Given the description of an element on the screen output the (x, y) to click on. 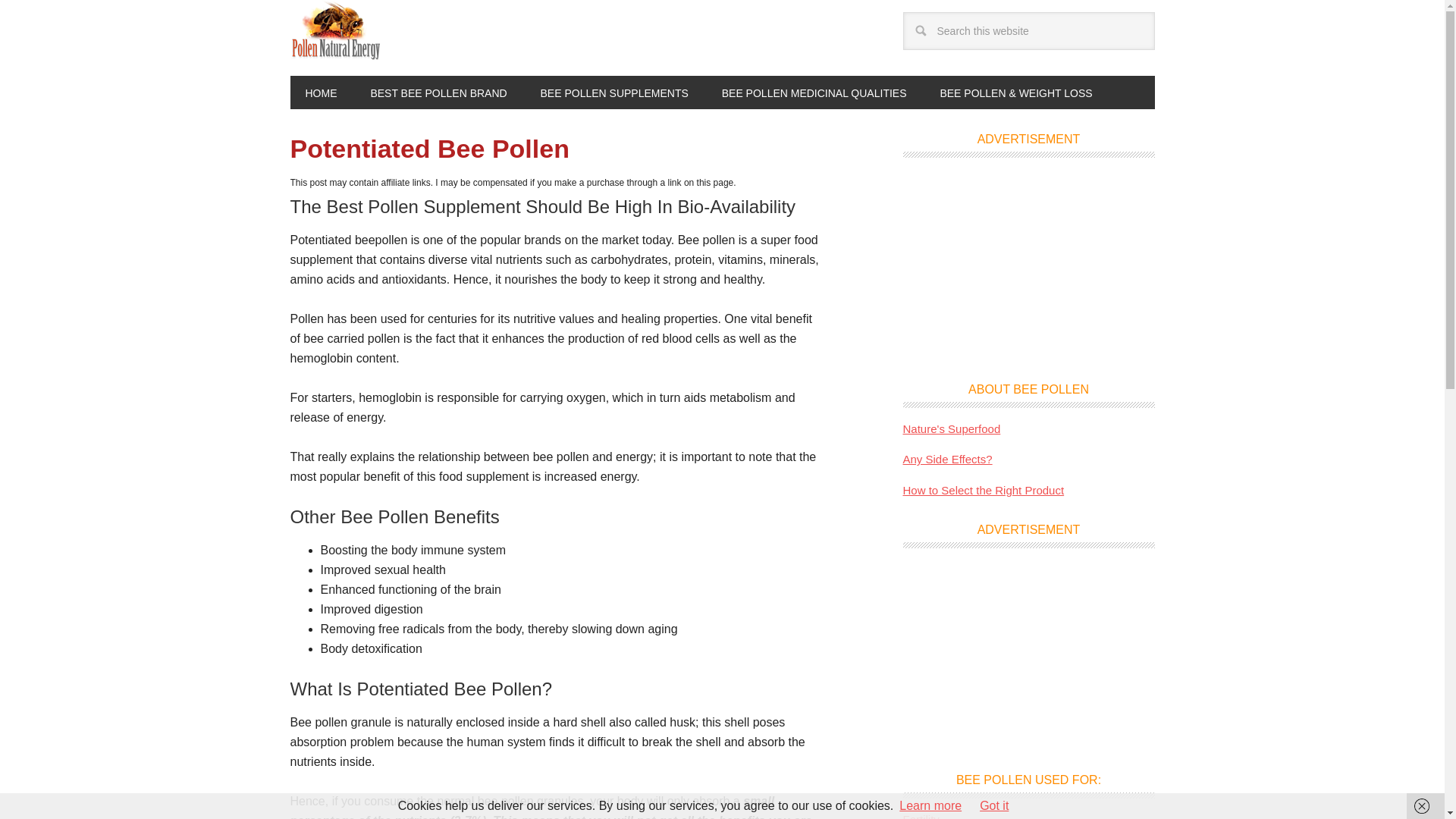
BEE POLLEN SUPPLEMENTS (614, 92)
Got it (994, 805)
Nature's Superfood (951, 428)
Advertisement (1028, 264)
BEST BEE POLLEN BRAND (438, 92)
Learn more (929, 805)
Fertility (920, 816)
How to Select the Right Product (983, 490)
BEE POLLEN MEDICINAL QUALITIES (813, 92)
Any Side Effects? (946, 459)
Advertisement (1028, 655)
POLLEN NATURAL ENERGY (334, 30)
